Given the description of an element on the screen output the (x, y) to click on. 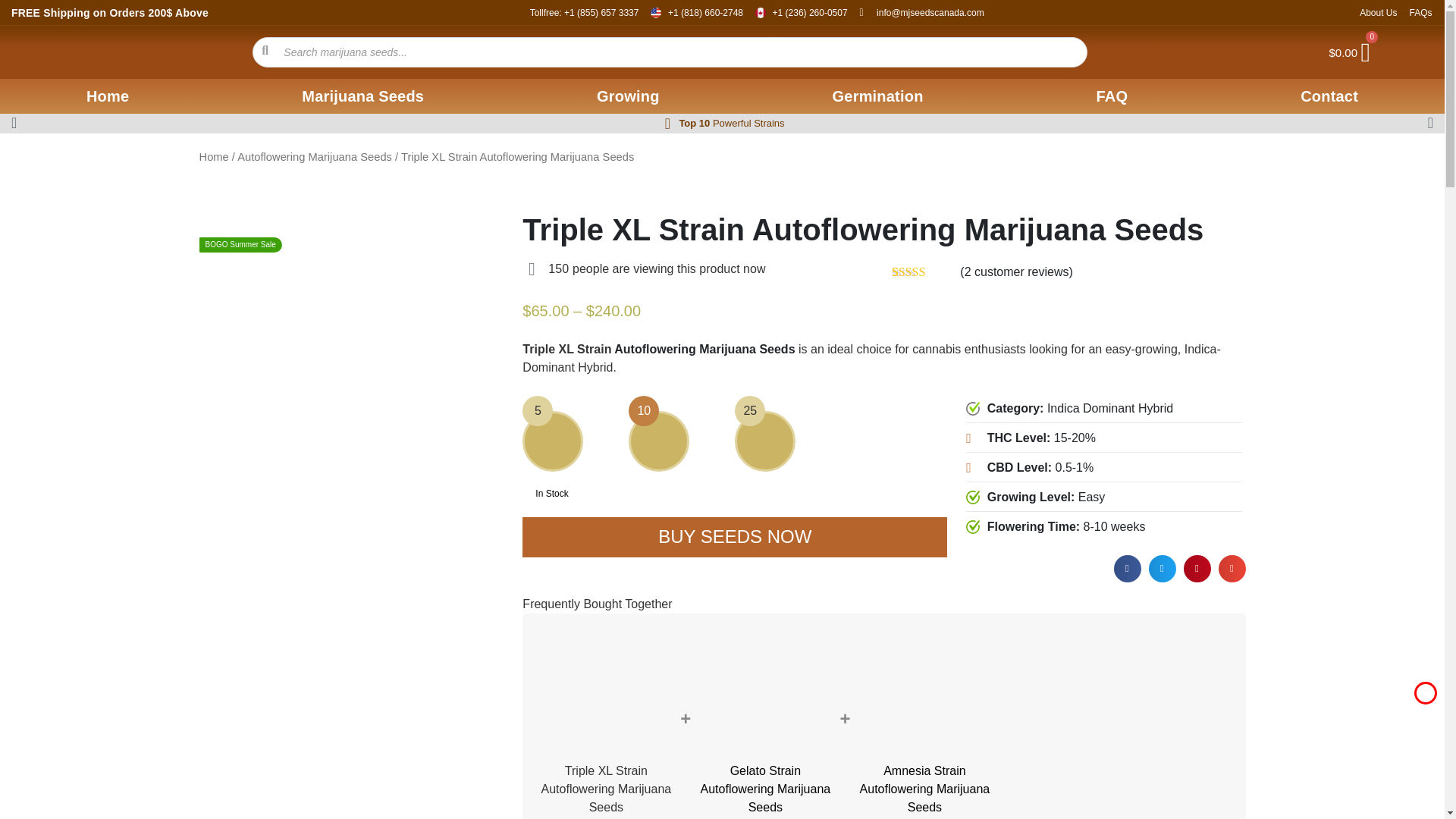
Home (107, 95)
Top 10 Powerful Strains (731, 122)
FAQ (1112, 95)
Germination (877, 95)
About Us (1377, 12)
Growing (628, 95)
Marijuana Seeds (363, 95)
FAQs (1420, 12)
